Given the description of an element on the screen output the (x, y) to click on. 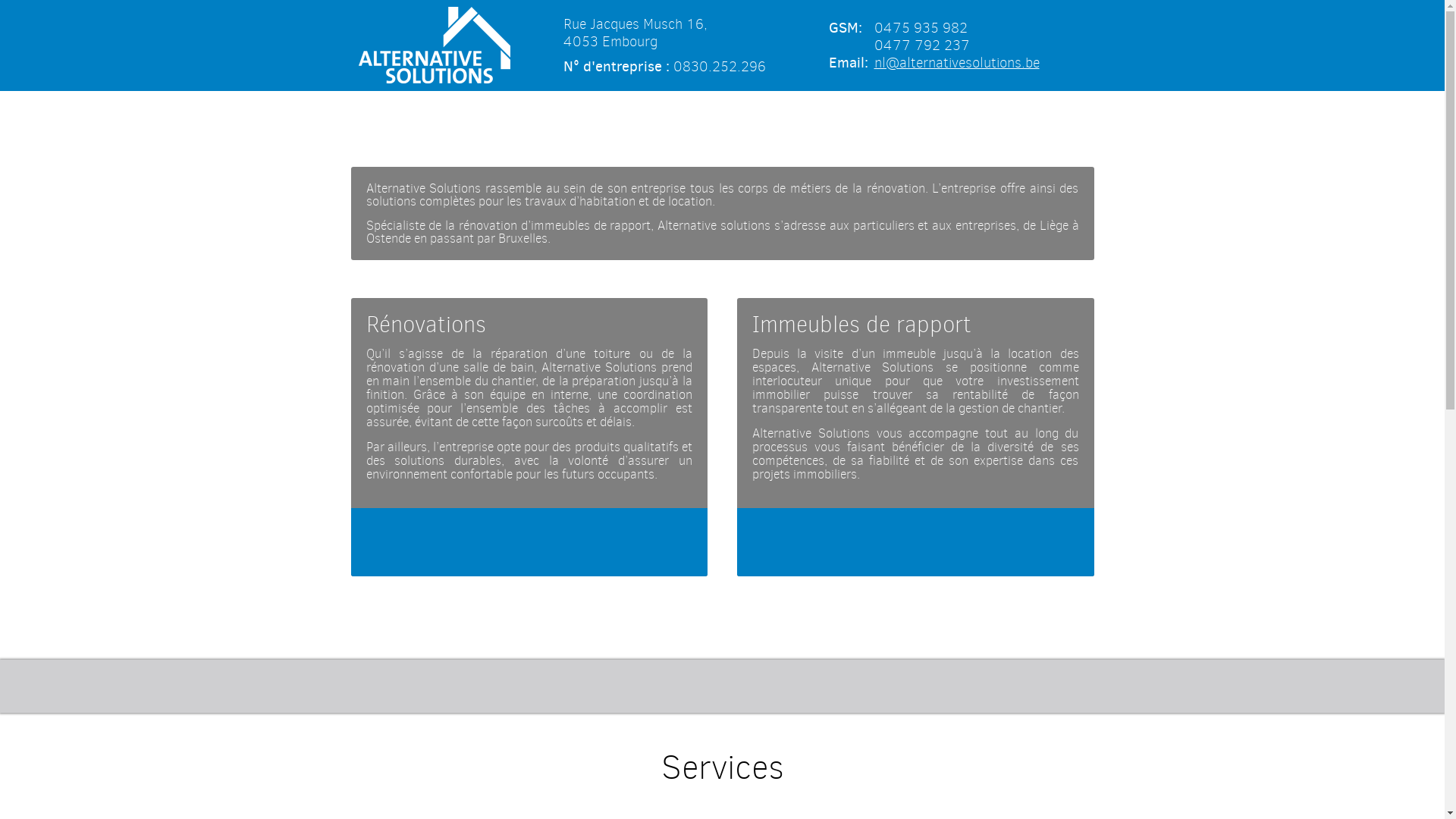
Alternative Solutions Element type: hover (433, 44)
nl@alternativesolutions.be Element type: text (955, 62)
